Given the description of an element on the screen output the (x, y) to click on. 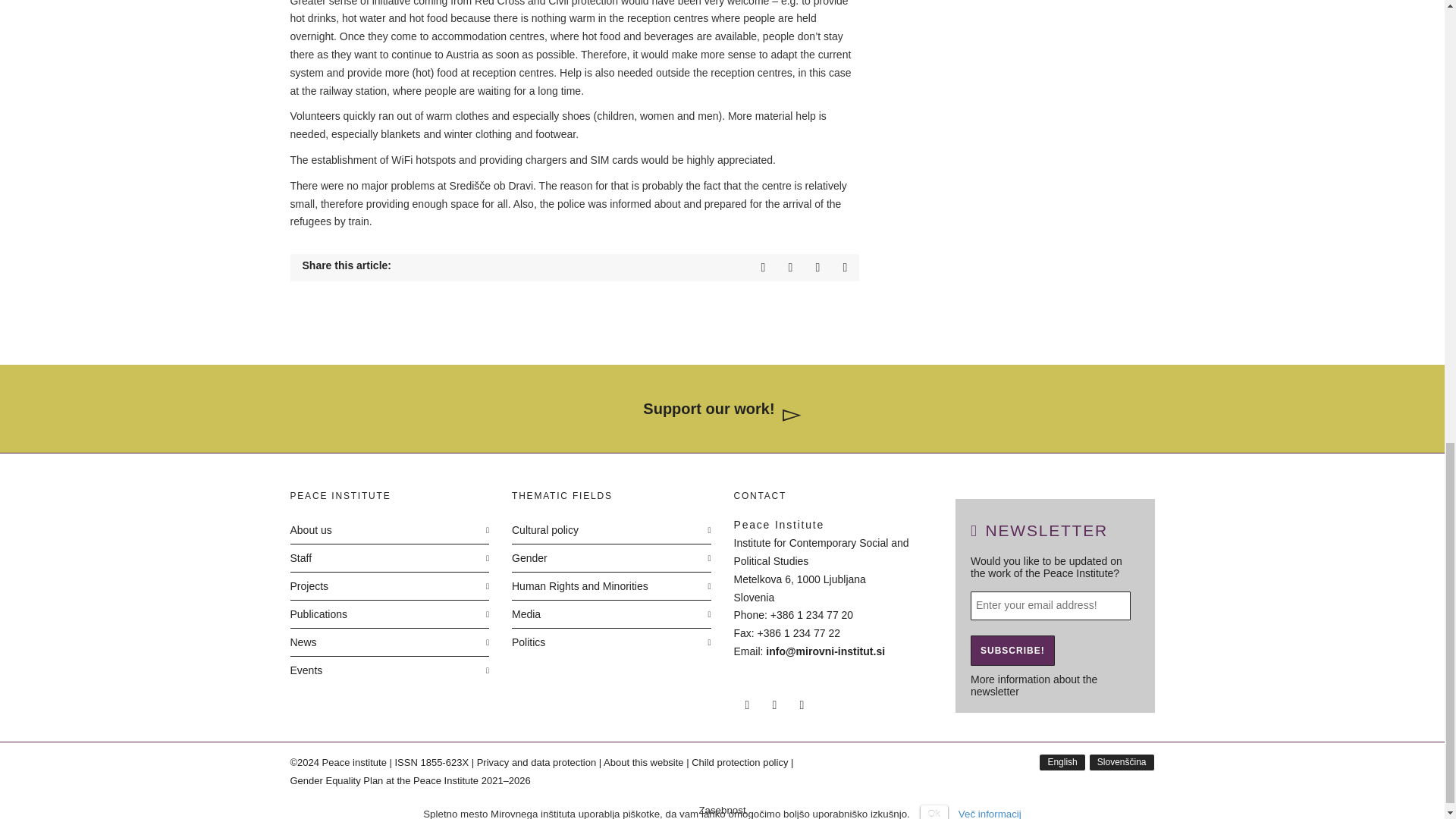
Subscribe! (1012, 650)
Child protection policy (739, 762)
Enter your email address! (1051, 605)
Gender Equality Plan (416, 780)
About this website (644, 762)
